Given the description of an element on the screen output the (x, y) to click on. 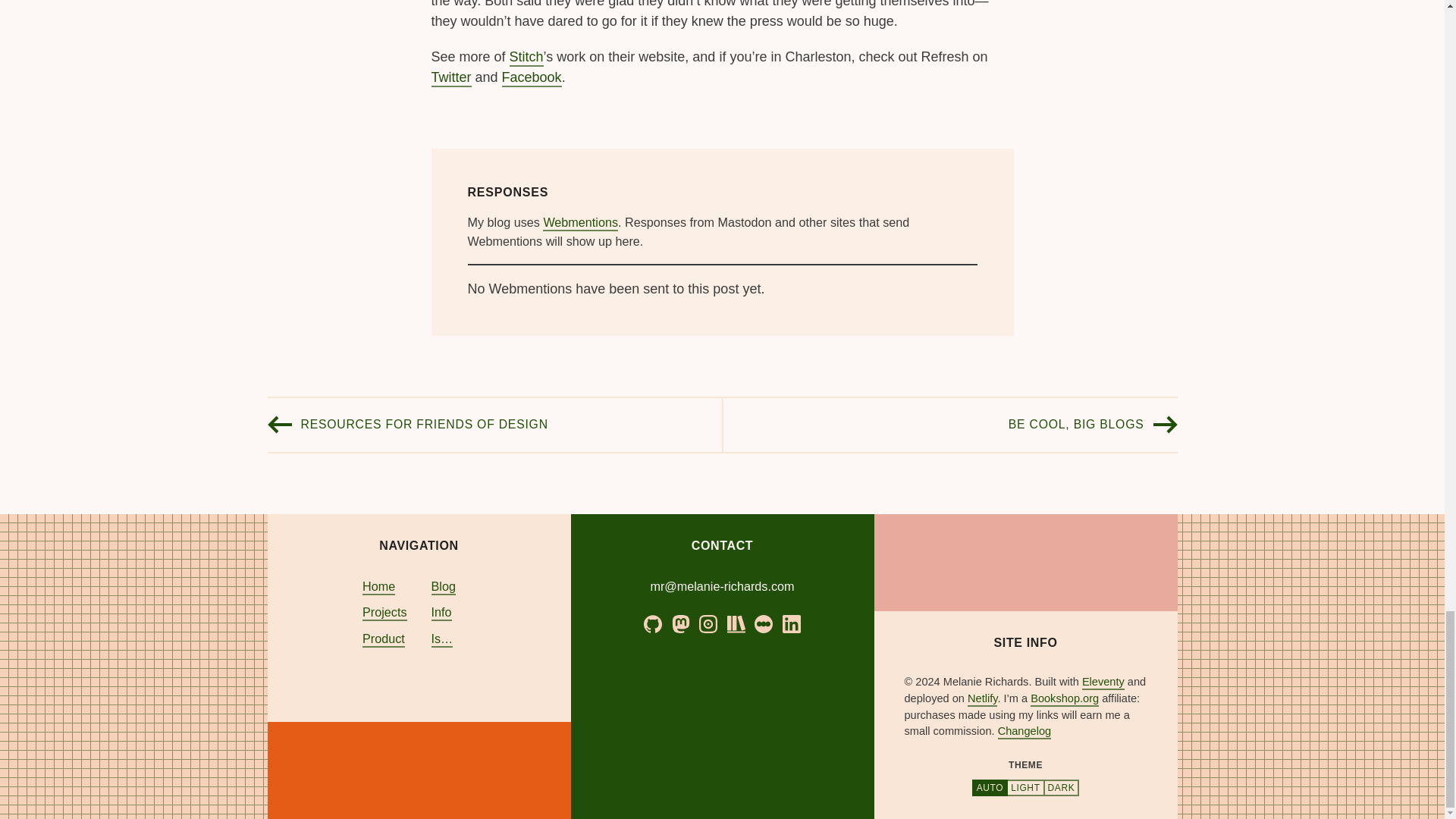
Letterboxd (763, 624)
BE COOL, BIG BLOGS (1076, 425)
Bookshop.org (1064, 699)
Github (652, 628)
Product (383, 639)
Instagram (707, 624)
Netlify (982, 699)
Facebook (532, 77)
The StoryGraph (735, 624)
Twitter (450, 77)
Webmentions (580, 222)
Stitch (526, 57)
Eleventy (1102, 682)
Info (440, 612)
The StoryGraph (735, 628)
